Given the description of an element on the screen output the (x, y) to click on. 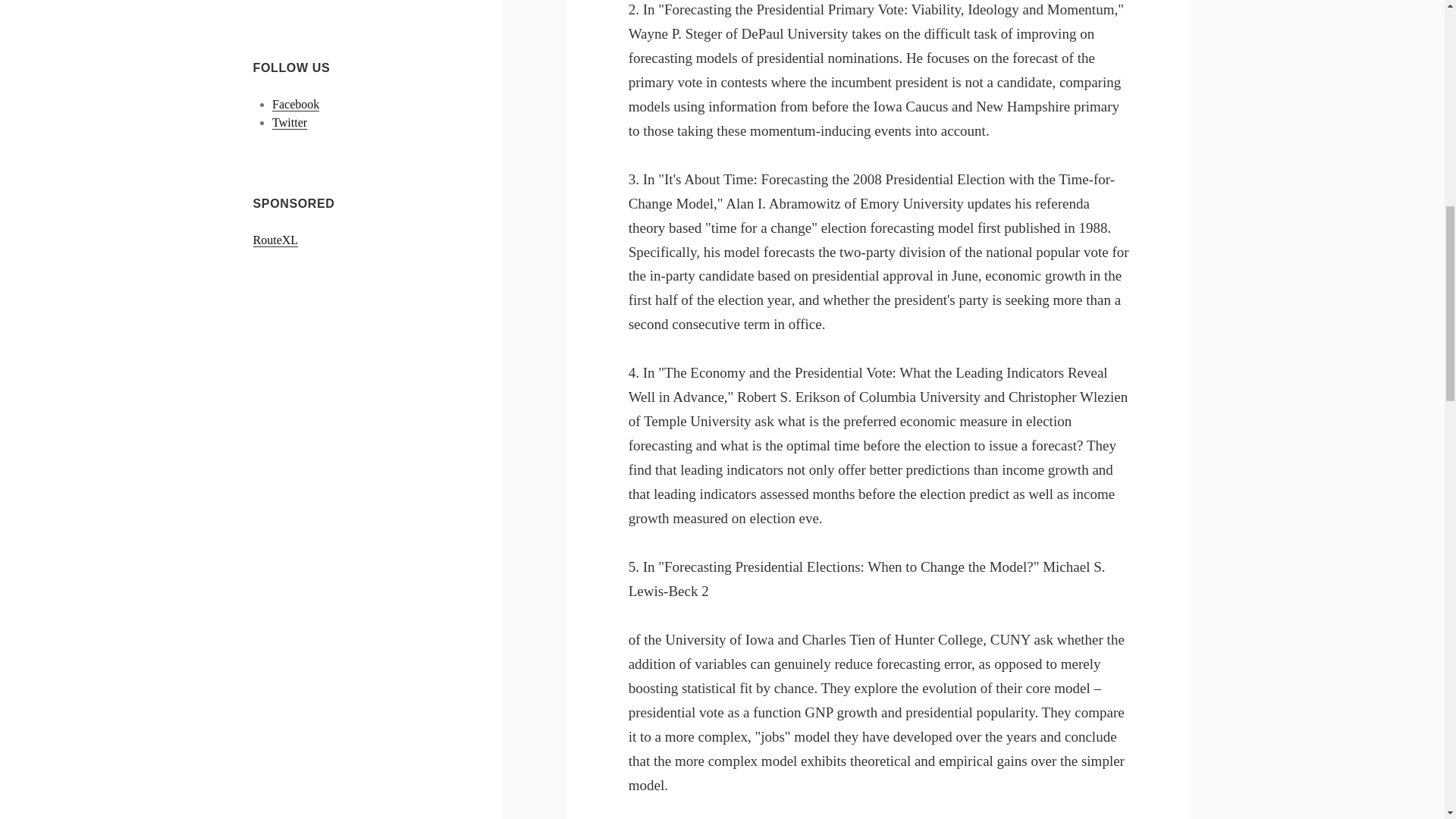
RouteXL (275, 240)
Best route with stops (275, 240)
Twitter (289, 122)
Facebook (295, 104)
